Given the description of an element on the screen output the (x, y) to click on. 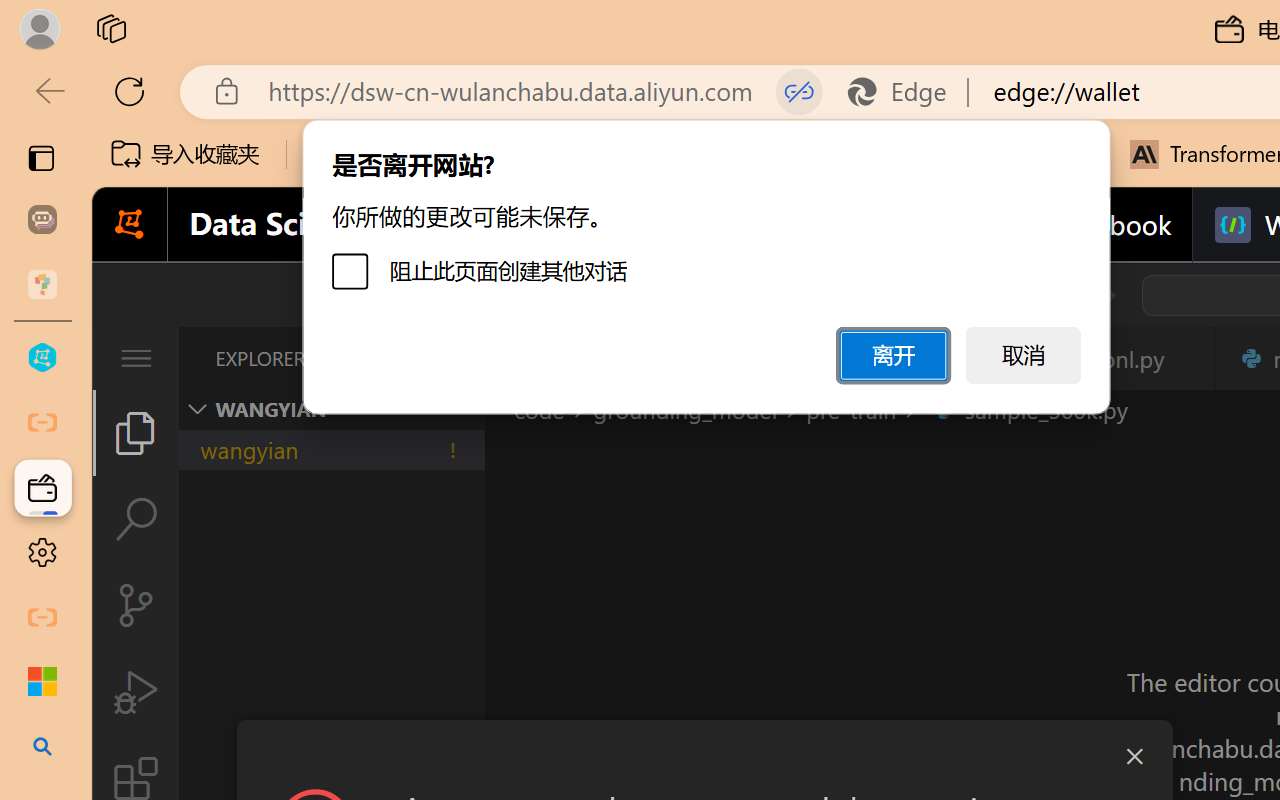
Application Menu (135, 358)
Close Dialog (1133, 756)
